Given the description of an element on the screen output the (x, y) to click on. 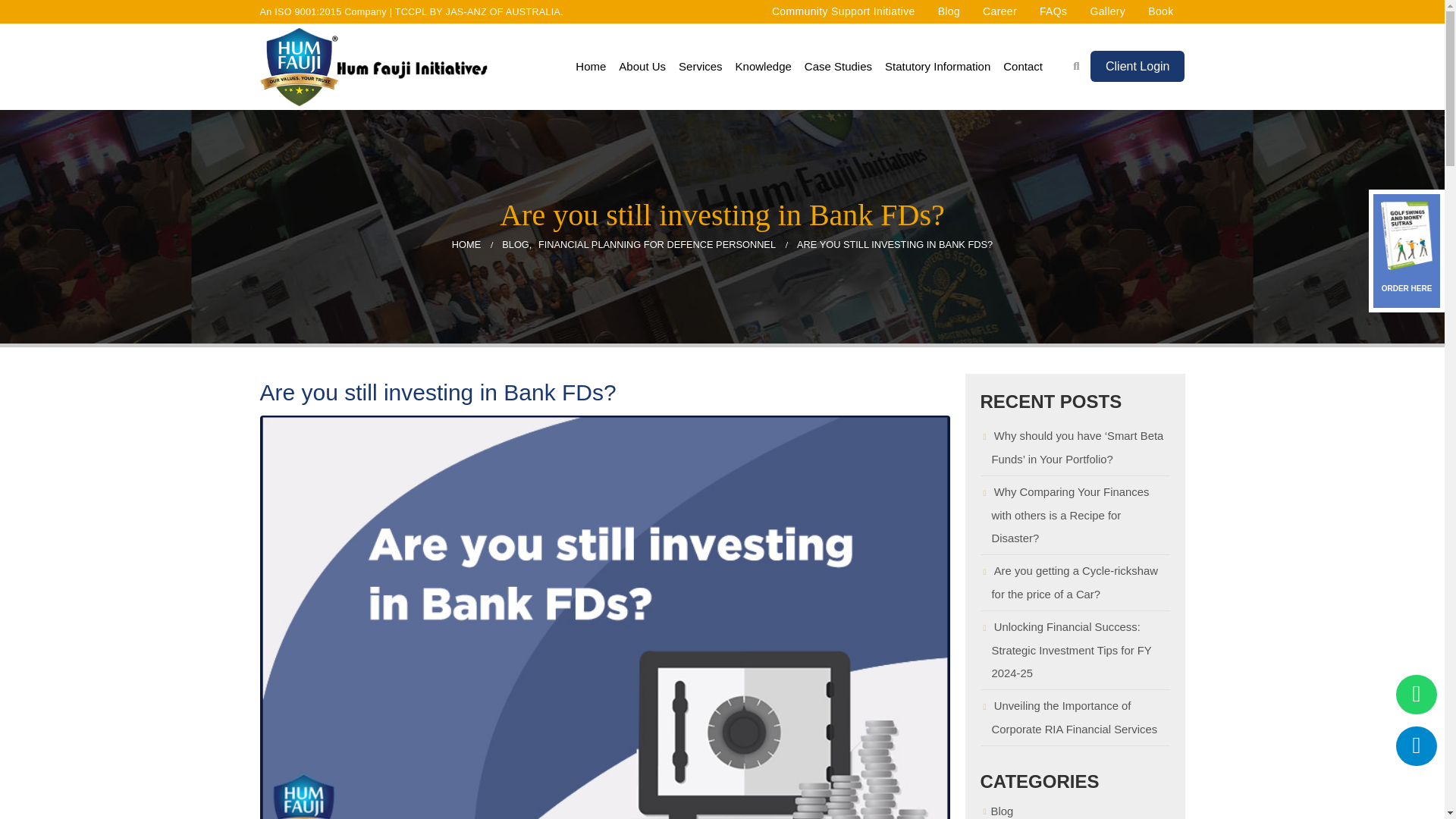
Hum Fauji Initiatives - Our Values Your Trust (372, 66)
Statutory Information (937, 66)
Career (999, 11)
Contact (1022, 66)
Home (590, 66)
Go to Home Page (465, 244)
Community Support Initiative (843, 11)
Case Studies (837, 66)
Gallery (1107, 11)
Knowledge (763, 66)
Book (1160, 11)
Services (700, 66)
FAQs (1052, 11)
About Us (641, 66)
Blog (948, 11)
